Given the description of an element on the screen output the (x, y) to click on. 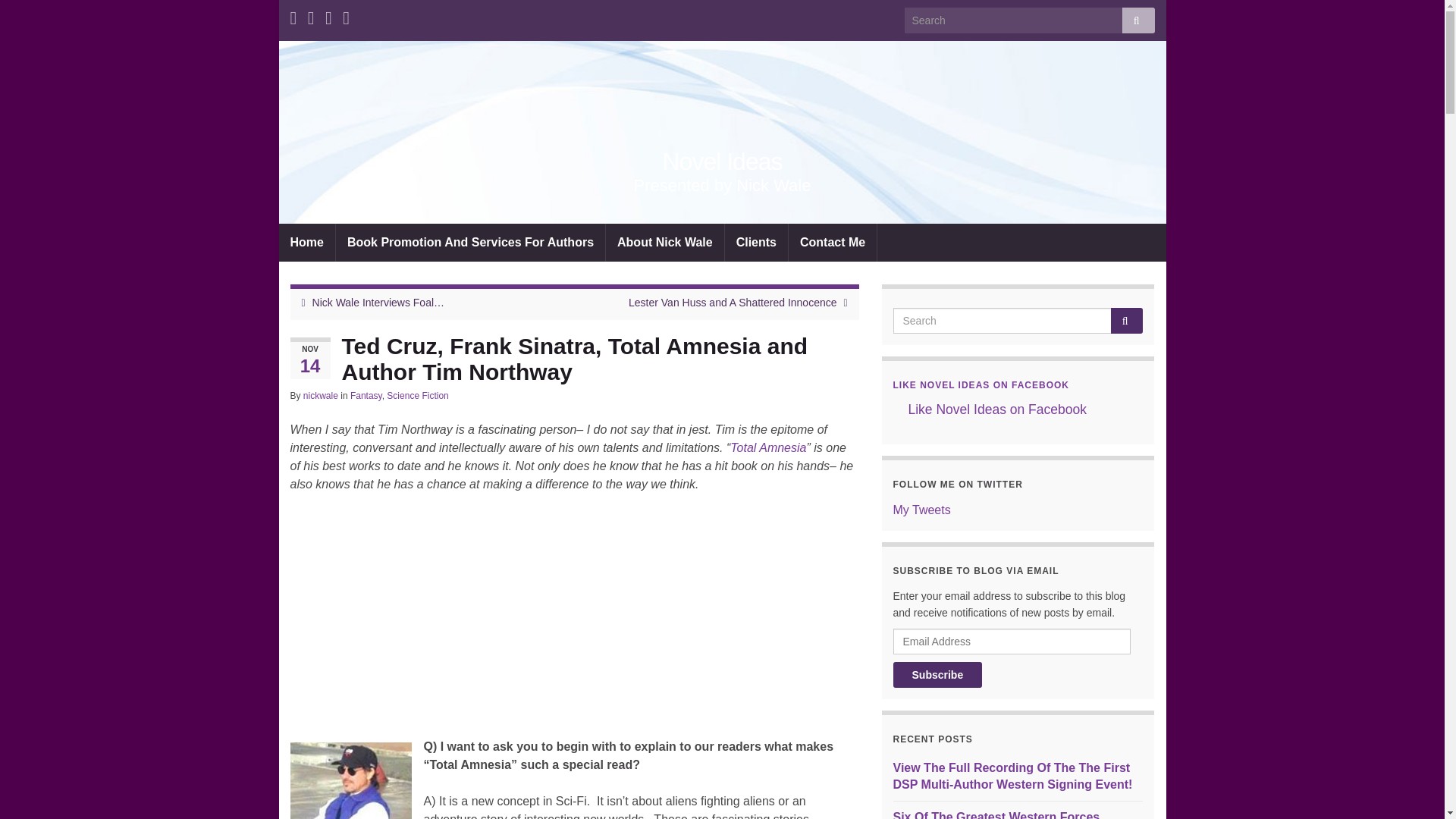
Novel Ideas (722, 161)
Home (306, 242)
Contact Me (832, 242)
Fantasy (365, 395)
Lester Van Huss and A Shattered Innocence (731, 302)
About Nick Wale (664, 242)
Science Fiction (417, 395)
Go back to the front page (722, 161)
nickwale (319, 395)
Book Promotion And Services For Authors (470, 242)
Clients (756, 242)
Subscribe (937, 674)
Total Amnesia (768, 447)
